Given the description of an element on the screen output the (x, y) to click on. 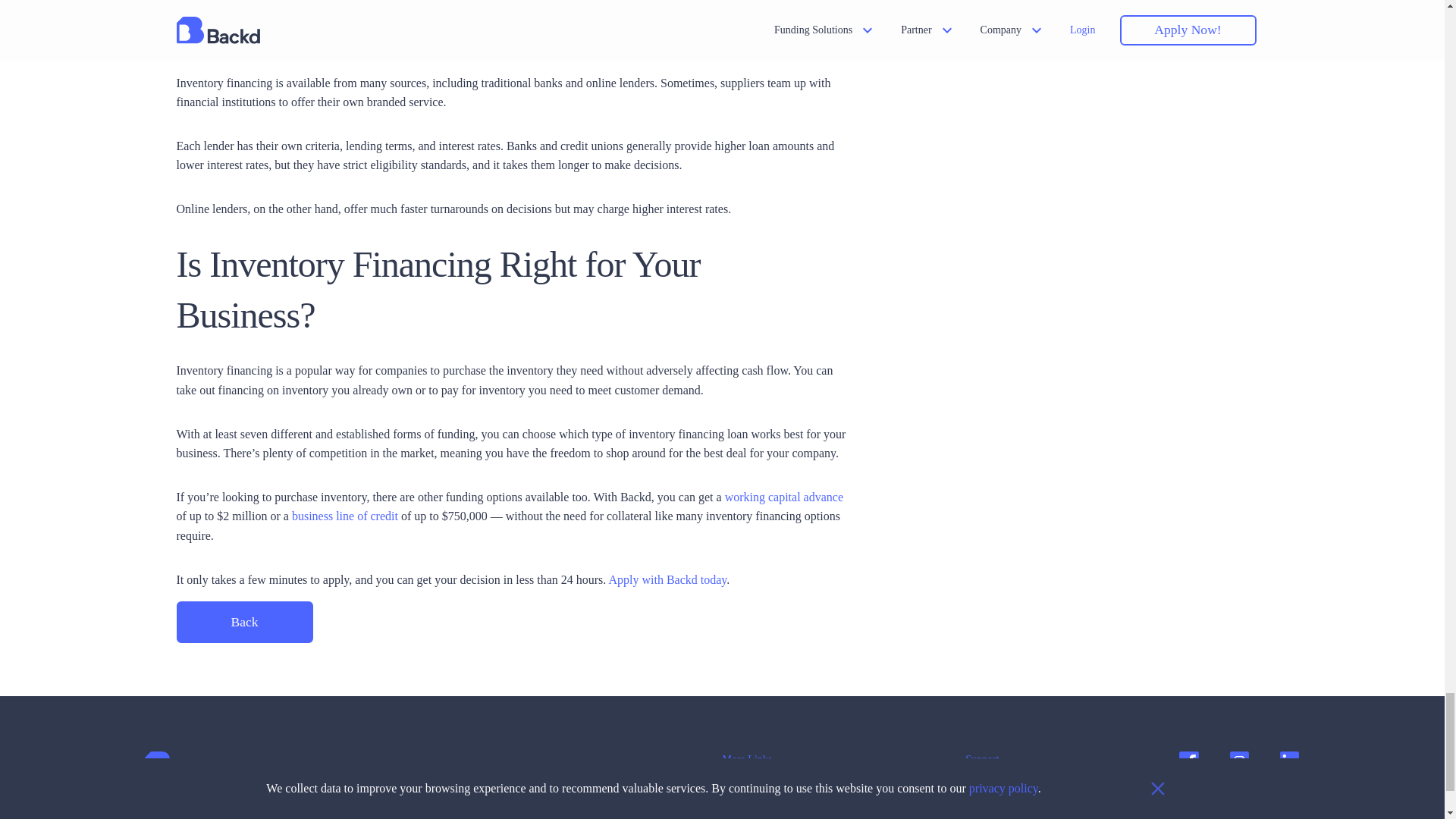
Apply with Backd today (667, 579)
Back (244, 621)
FAQ (975, 809)
News (746, 787)
Resources (746, 809)
business line of credit (344, 515)
Contact Us (975, 787)
working capital advance (784, 496)
